Given the description of an element on the screen output the (x, y) to click on. 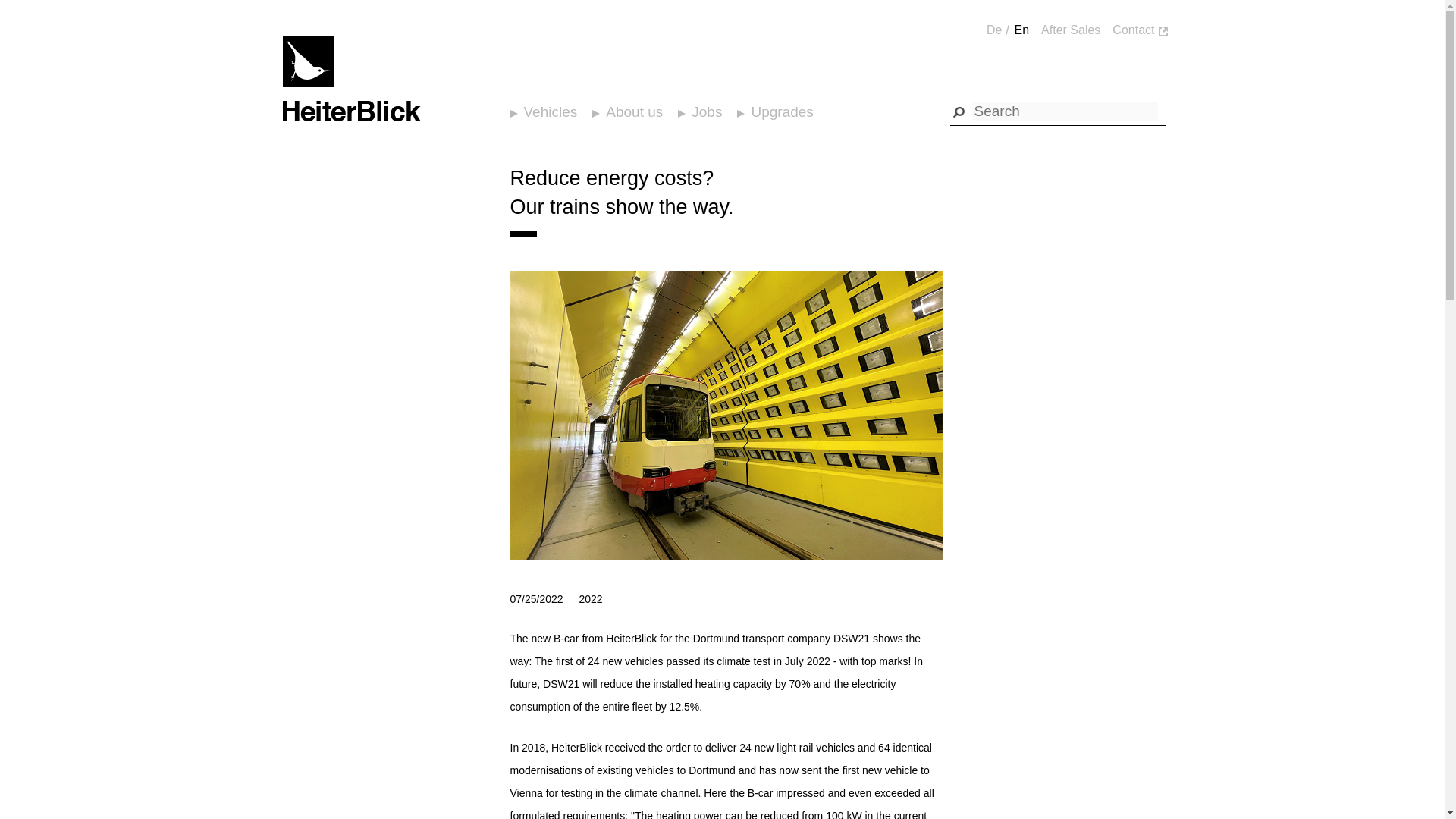
Jobs (705, 112)
Contact (1133, 29)
Upgrades (780, 112)
Search (960, 110)
Search (960, 110)
De (994, 29)
After Sales (1070, 29)
Vehicles (548, 112)
Search (960, 110)
About us (633, 112)
